Given the description of an element on the screen output the (x, y) to click on. 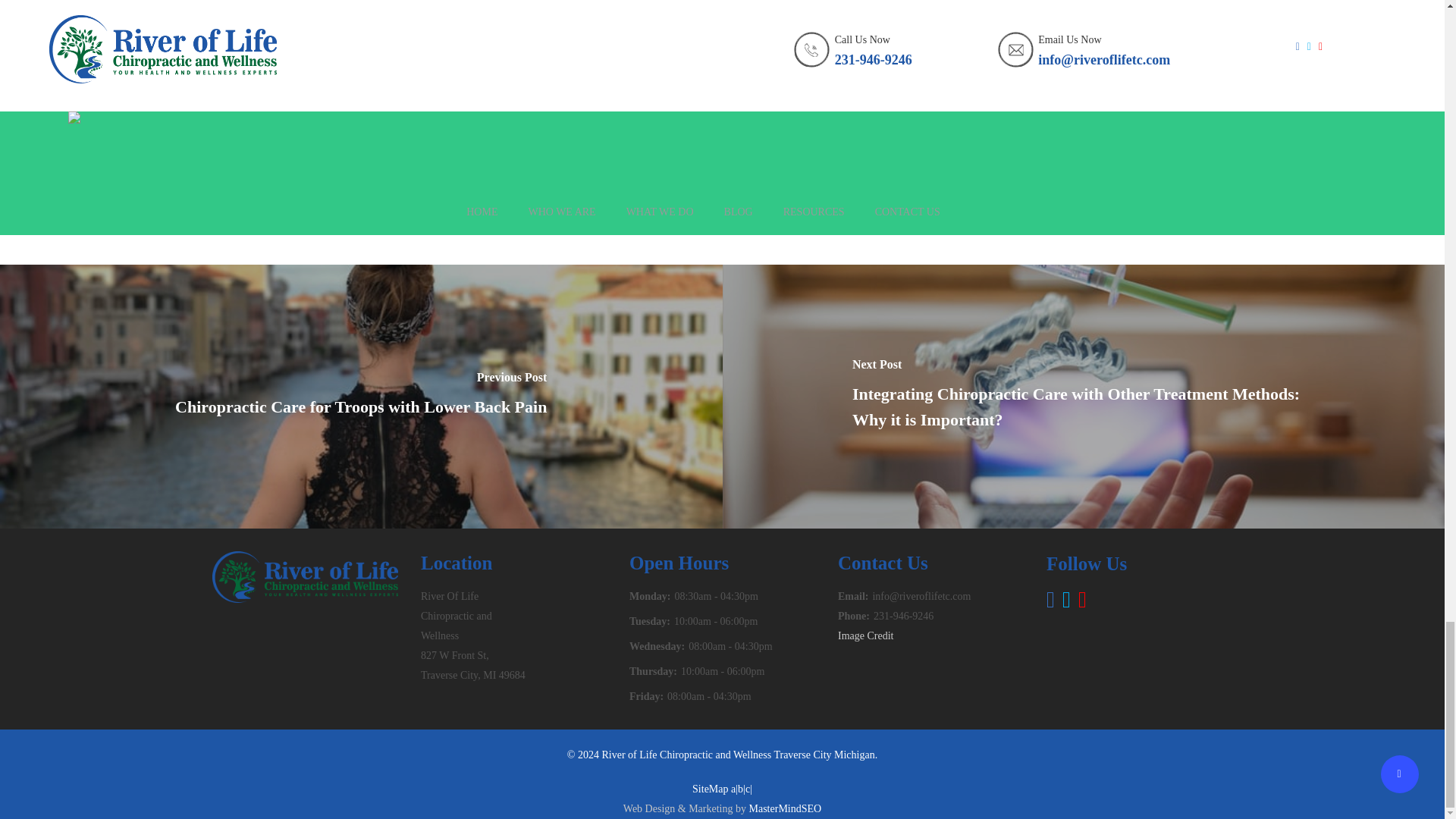
YouTube Channel (501, 30)
riveroflifetc (471, 156)
Image Credit (865, 635)
